Given the description of an element on the screen output the (x, y) to click on. 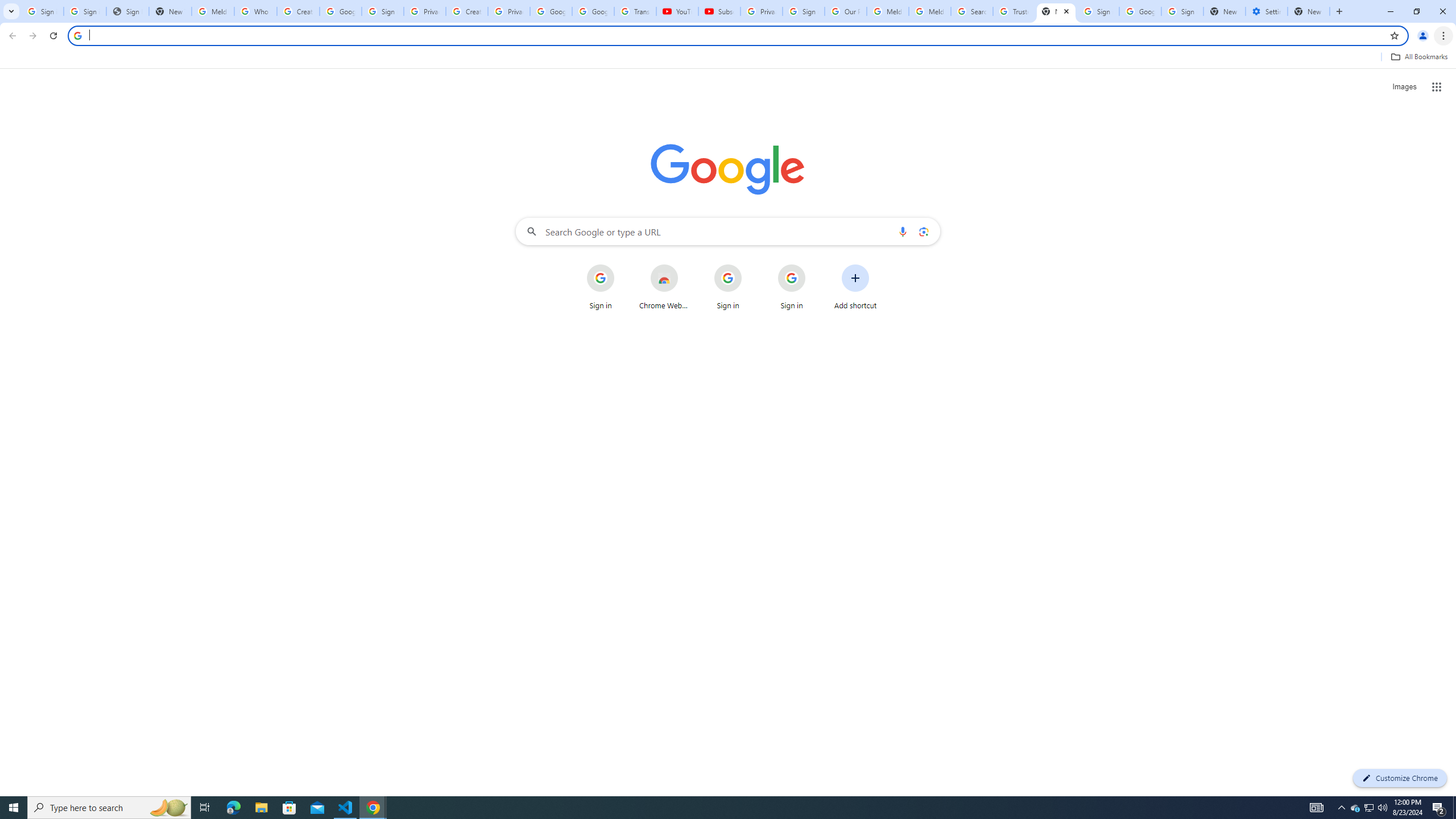
Sign in - Google Accounts (382, 11)
Search our Doodle Library Collection - Google Doodles (972, 11)
Search for Images  (1403, 87)
Settings - Addresses and more (1266, 11)
Create your Google Account (467, 11)
Trusted Information and Content - Google Safety Center (1013, 11)
Customize Chrome (1399, 778)
Sign in - Google Accounts (803, 11)
